Given the description of an element on the screen output the (x, y) to click on. 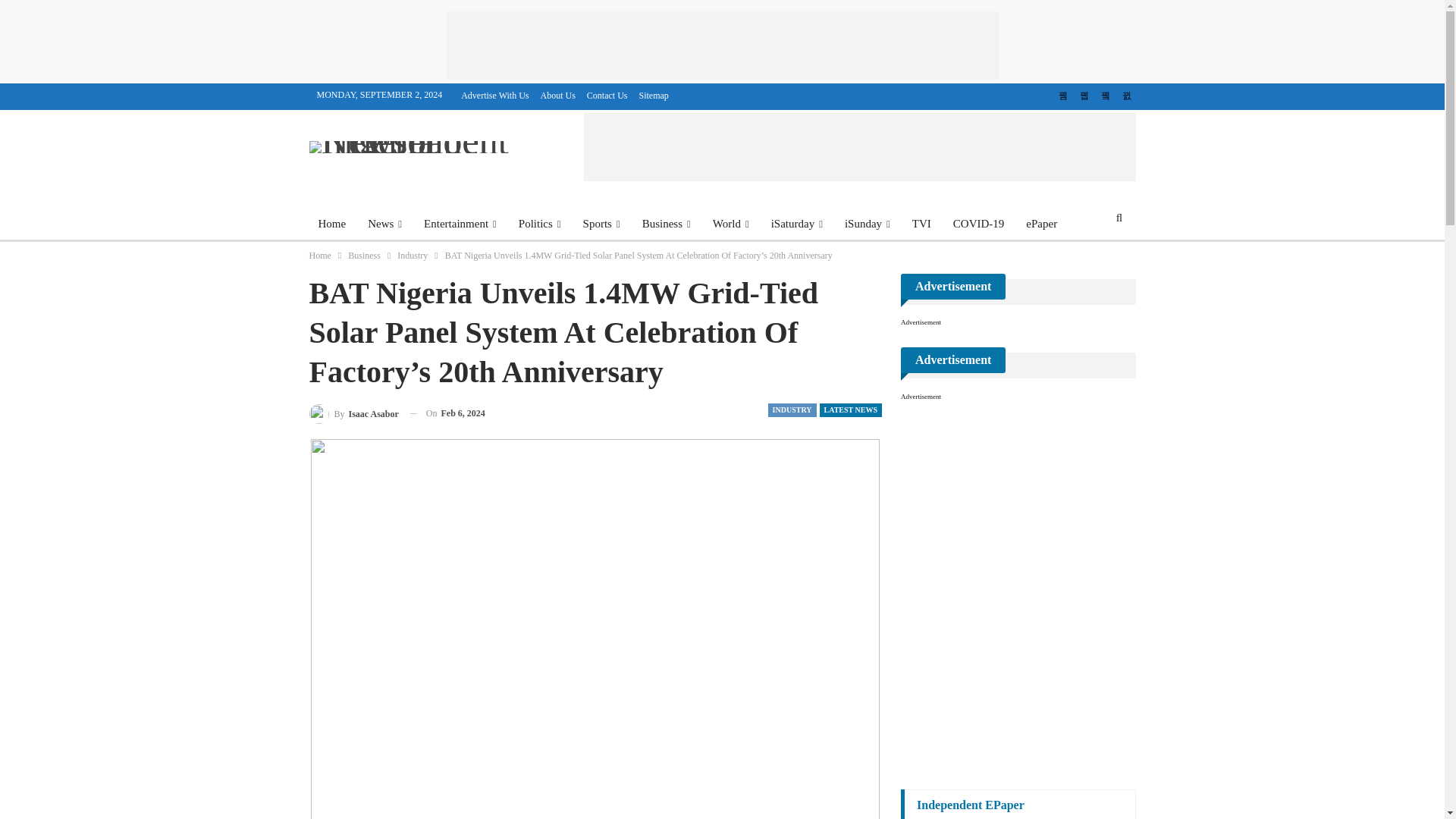
Advertise With Us (494, 95)
Contact Us (606, 95)
Entertainment (459, 223)
About Us (557, 95)
Sitemap (653, 95)
Home (331, 223)
News (384, 223)
Politics (539, 223)
